Given the description of an element on the screen output the (x, y) to click on. 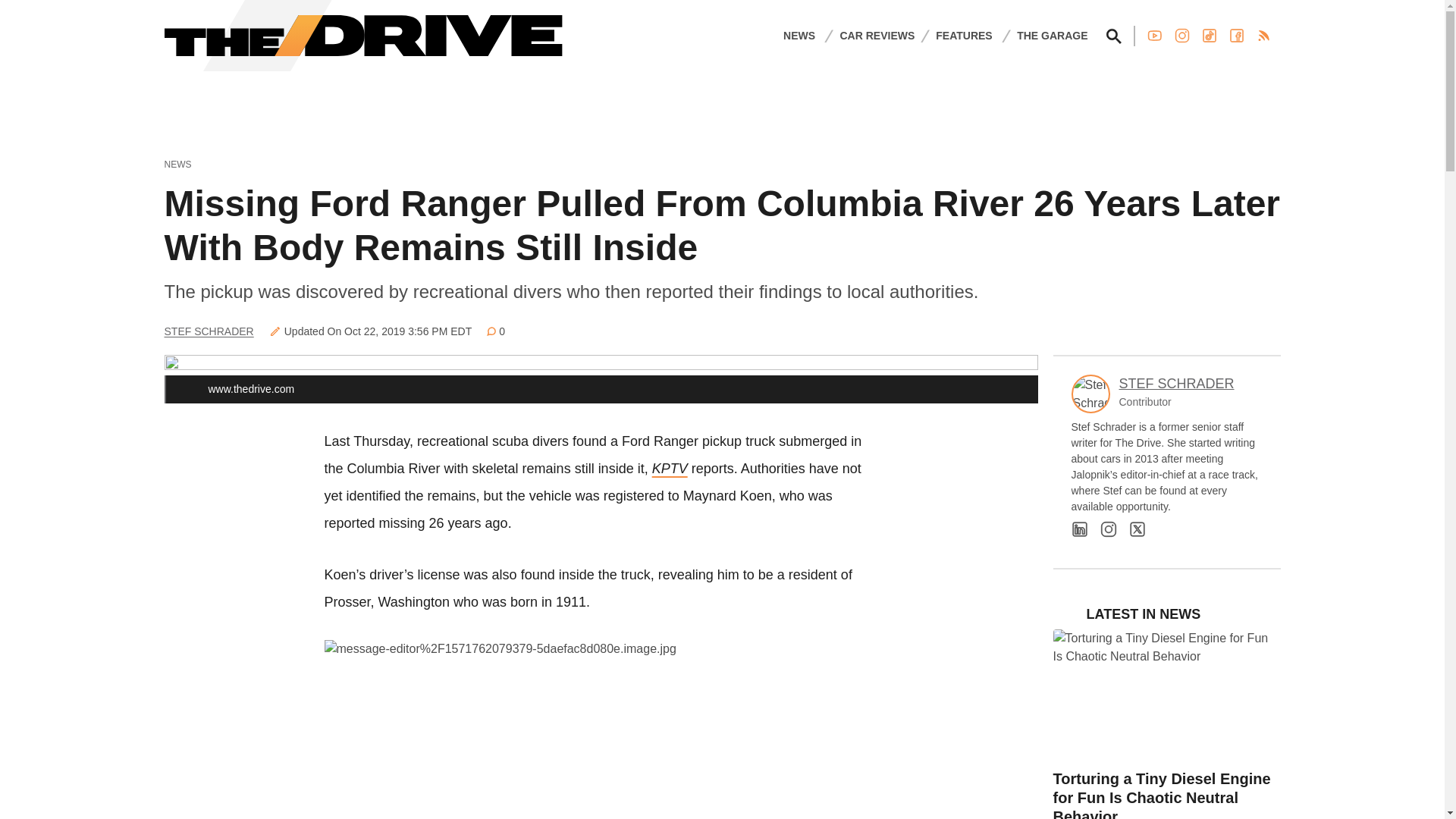
NEWS (799, 34)
